Given the description of an element on the screen output the (x, y) to click on. 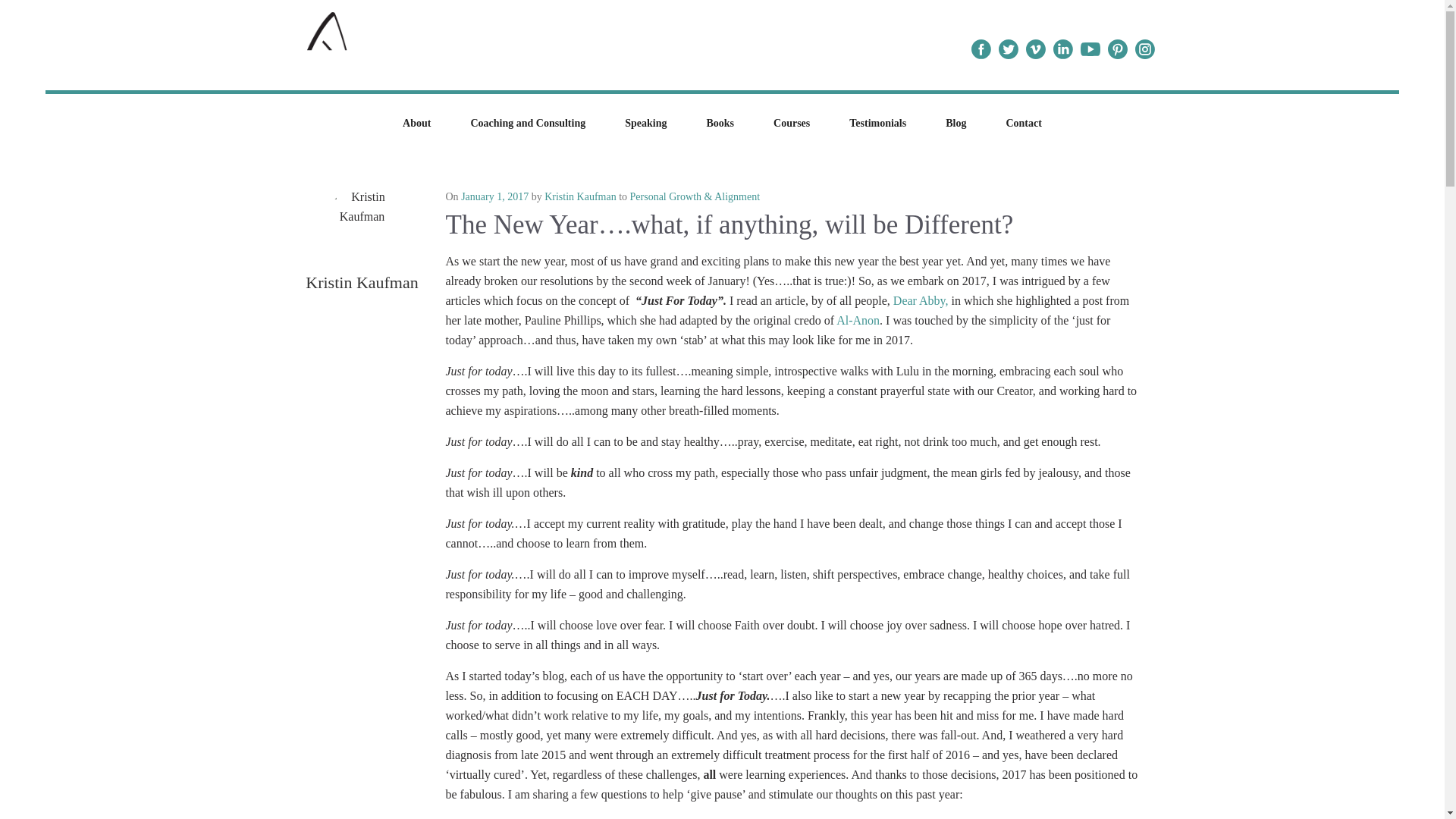
Vimeo (1035, 48)
Linkedin (1063, 48)
Coaching and Consulting (527, 123)
Pinterest (1117, 48)
Instagram (1144, 48)
Youtube (1090, 48)
Twitter (1008, 48)
About (415, 123)
Facebook (981, 48)
